Given the description of an element on the screen output the (x, y) to click on. 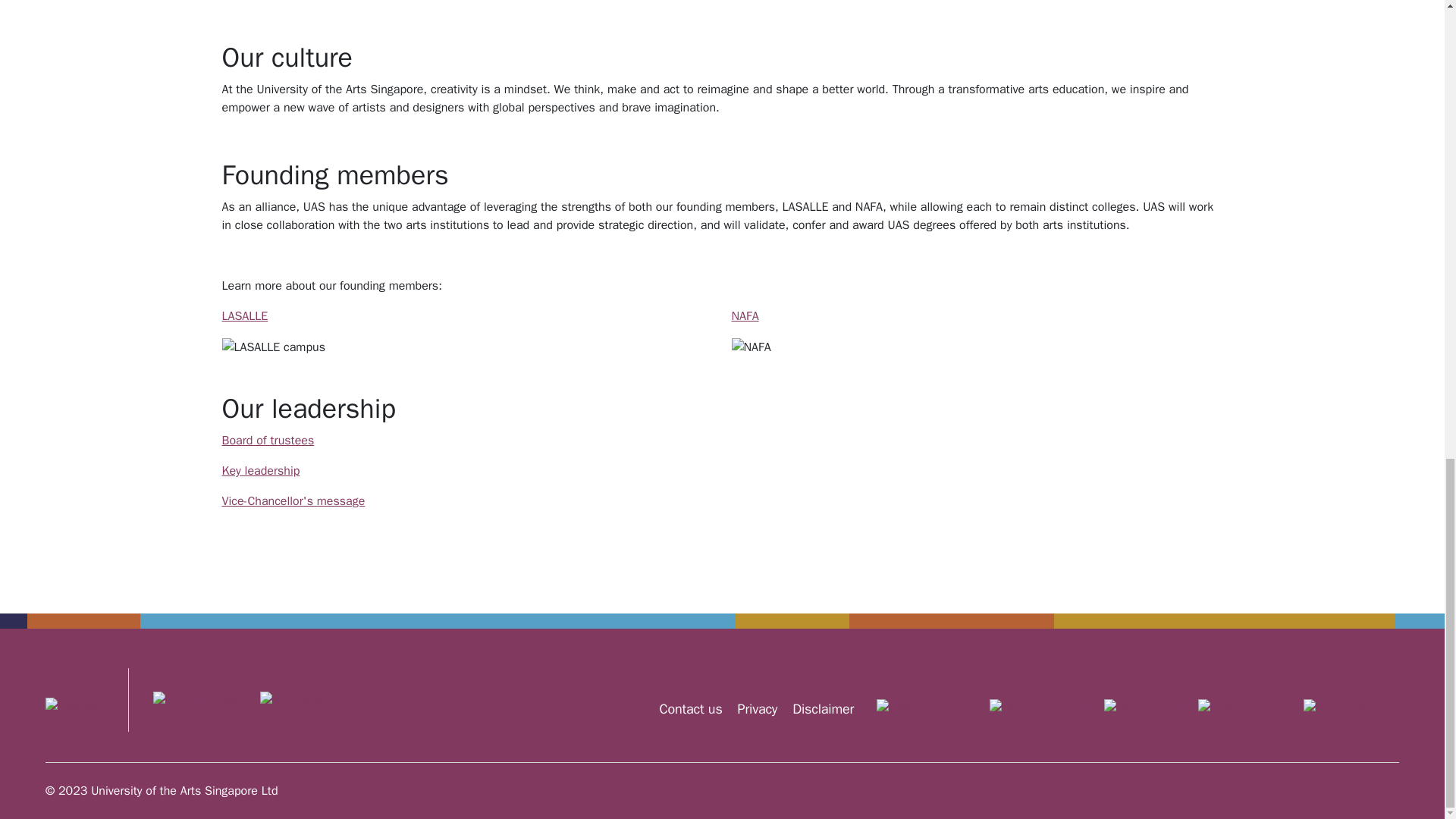
NAFA Building Campus 1 (750, 347)
LASALLE campus (272, 347)
